Given the description of an element on the screen output the (x, y) to click on. 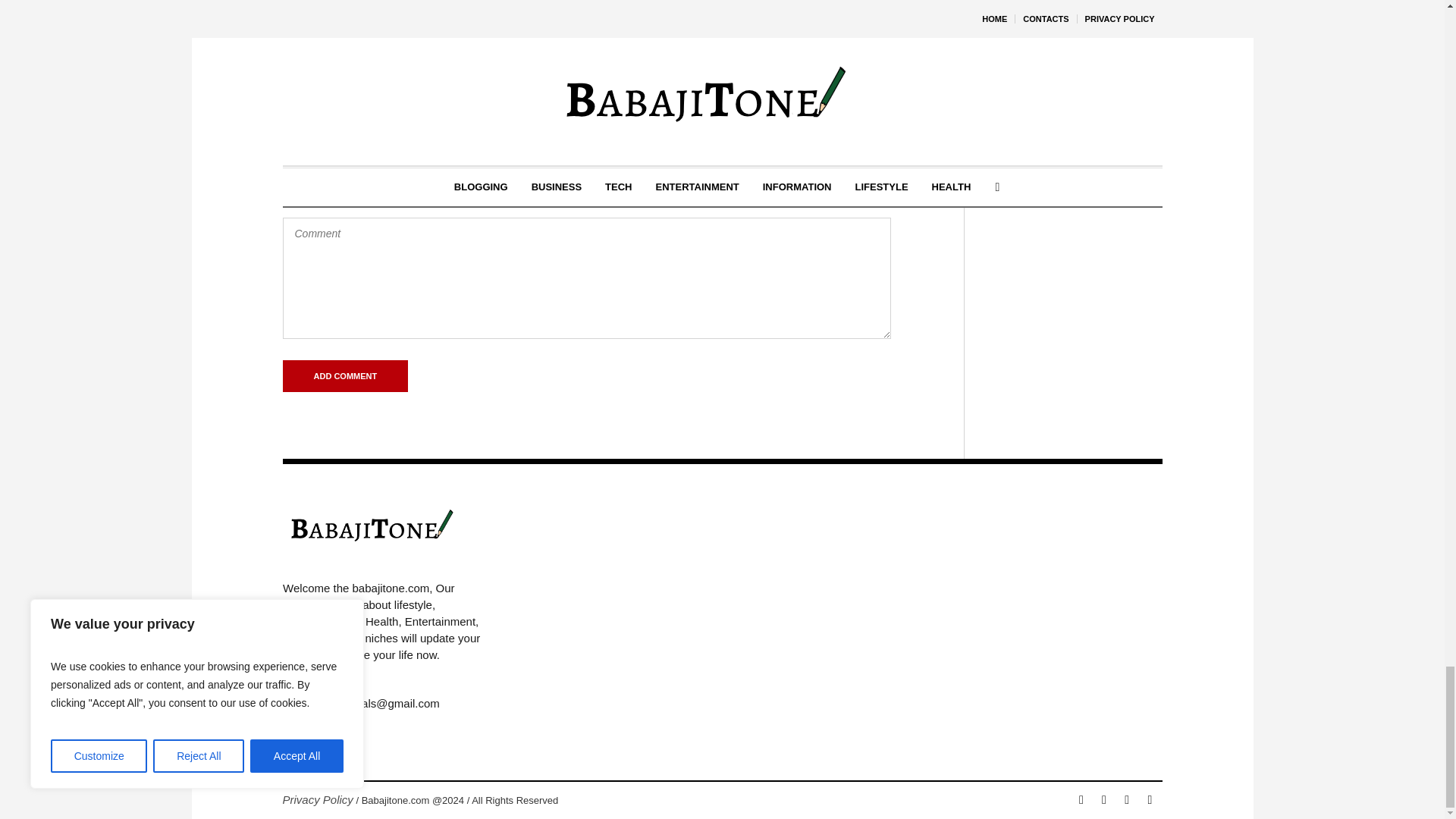
Instagram (1126, 800)
Twitter (1149, 800)
yes (287, 193)
Facebook (1080, 800)
Add Comment (344, 376)
